Given the description of an element on the screen output the (x, y) to click on. 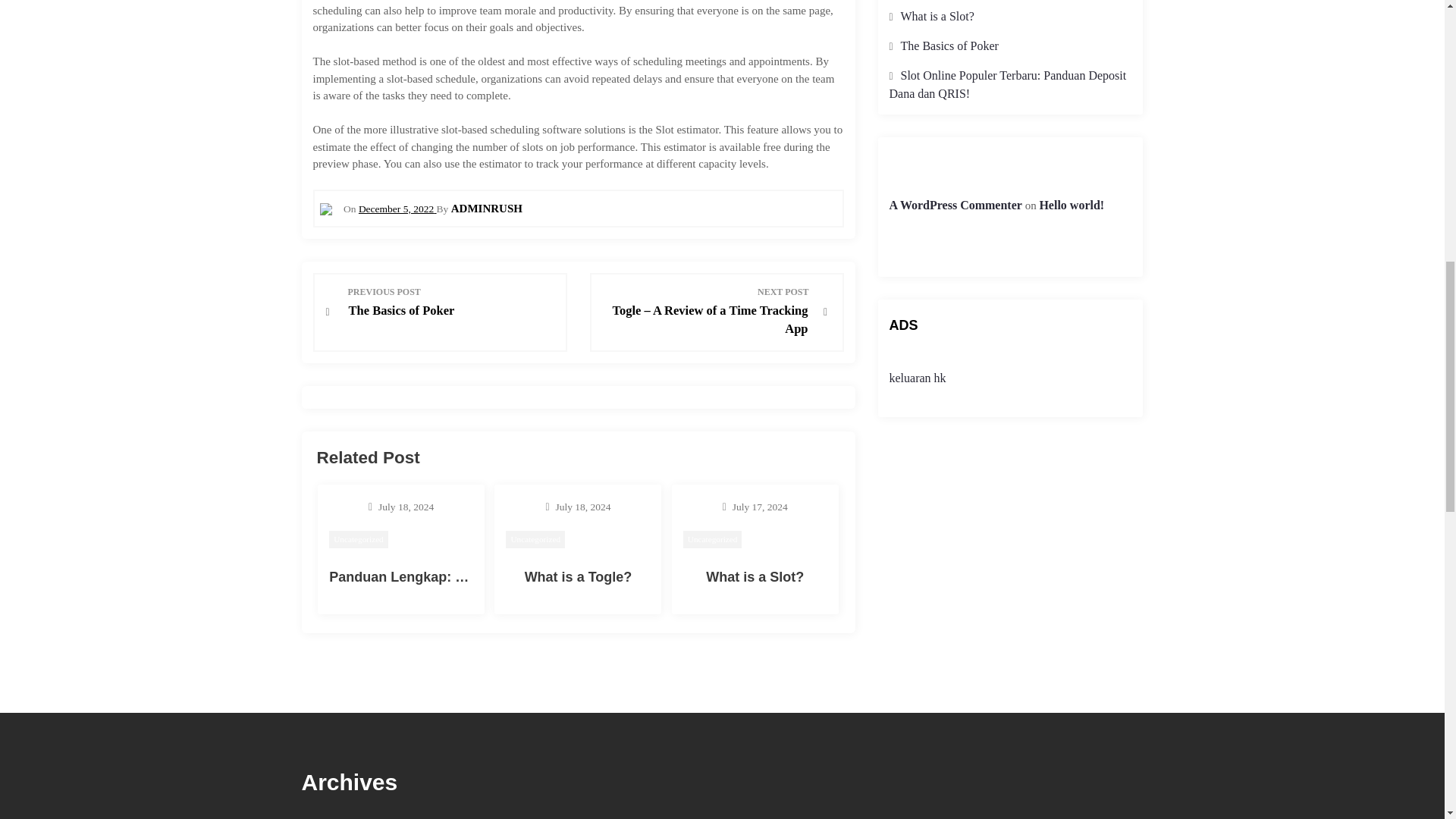
Hello world! (1071, 205)
ADMINRUSH (486, 208)
Uncategorized (358, 538)
Panduan Lengkap: Slot Scatter Hitam dan Demo PG Soft Terbaik (538, 576)
What is a Slot? (937, 15)
What is a Togle? (577, 576)
The Basics of Poker (949, 45)
December 5, 2022 (397, 208)
What is a Slot? (754, 576)
keluaran hk (916, 377)
Uncategorized (534, 538)
Uncategorized (712, 538)
Slot Online Populer Terbaru: Panduan Deposit Dana dan QRIS! (1006, 83)
A WordPress Commenter (451, 302)
